Given the description of an element on the screen output the (x, y) to click on. 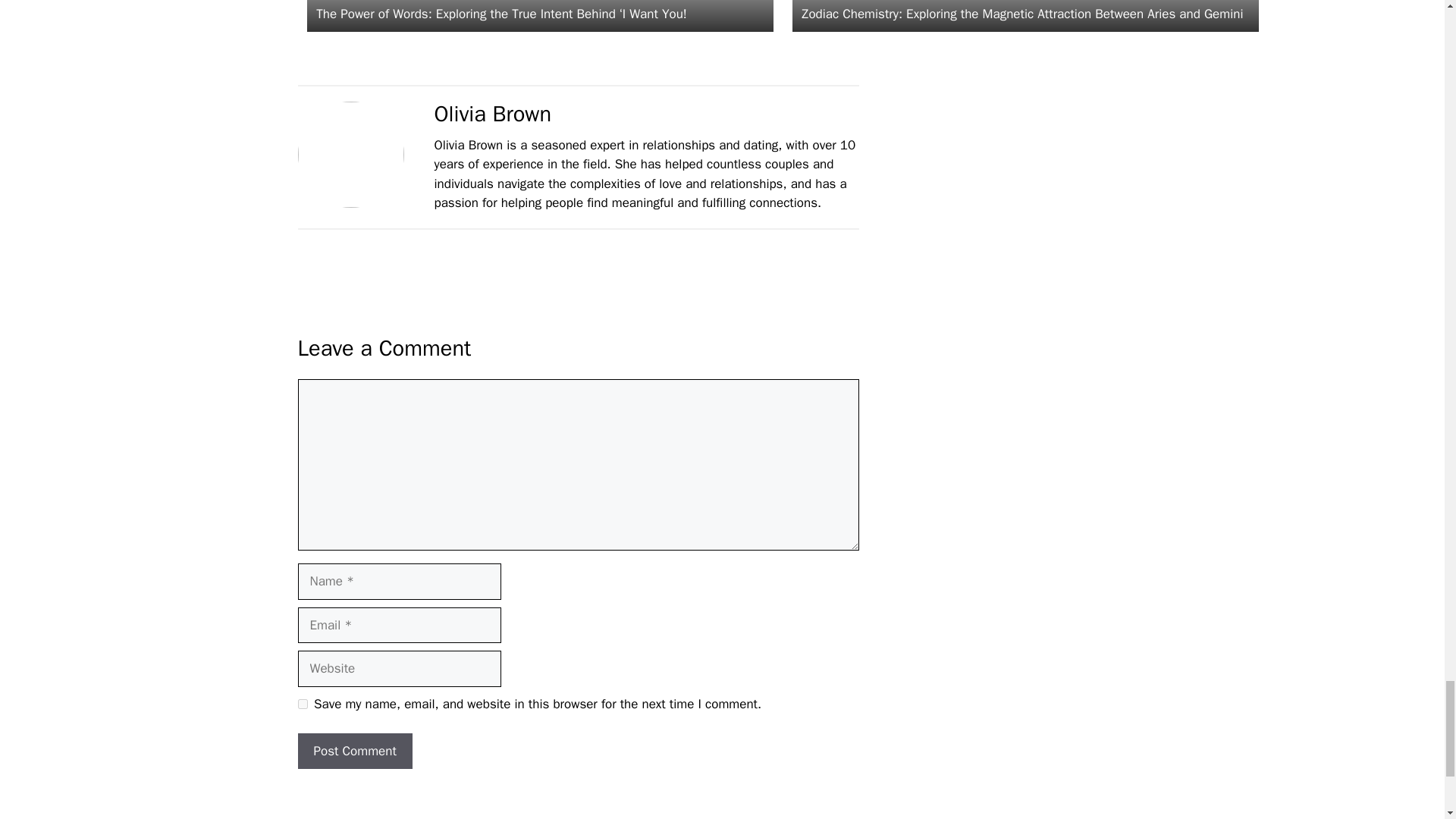
yes (302, 704)
Post Comment (354, 751)
Post Comment (354, 751)
Olivia Brown (492, 113)
